Given the description of an element on the screen output the (x, y) to click on. 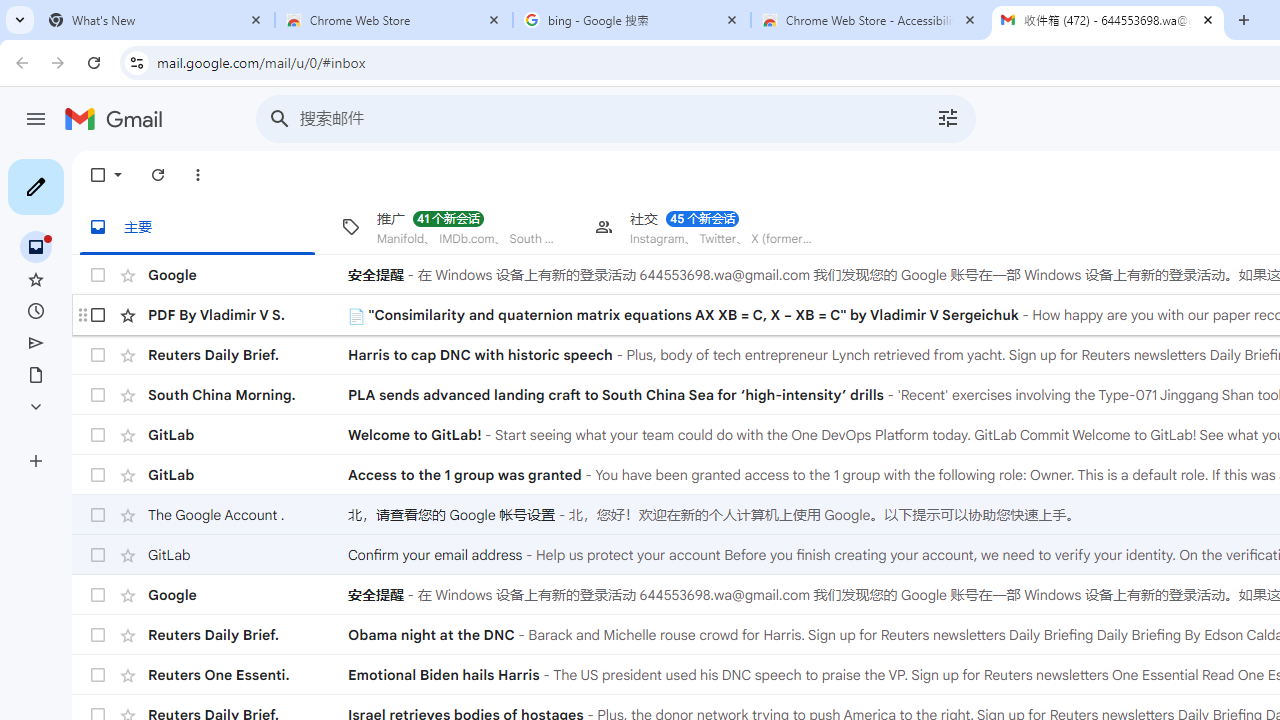
Reuters Daily Brief. (248, 634)
